Given the description of an element on the screen output the (x, y) to click on. 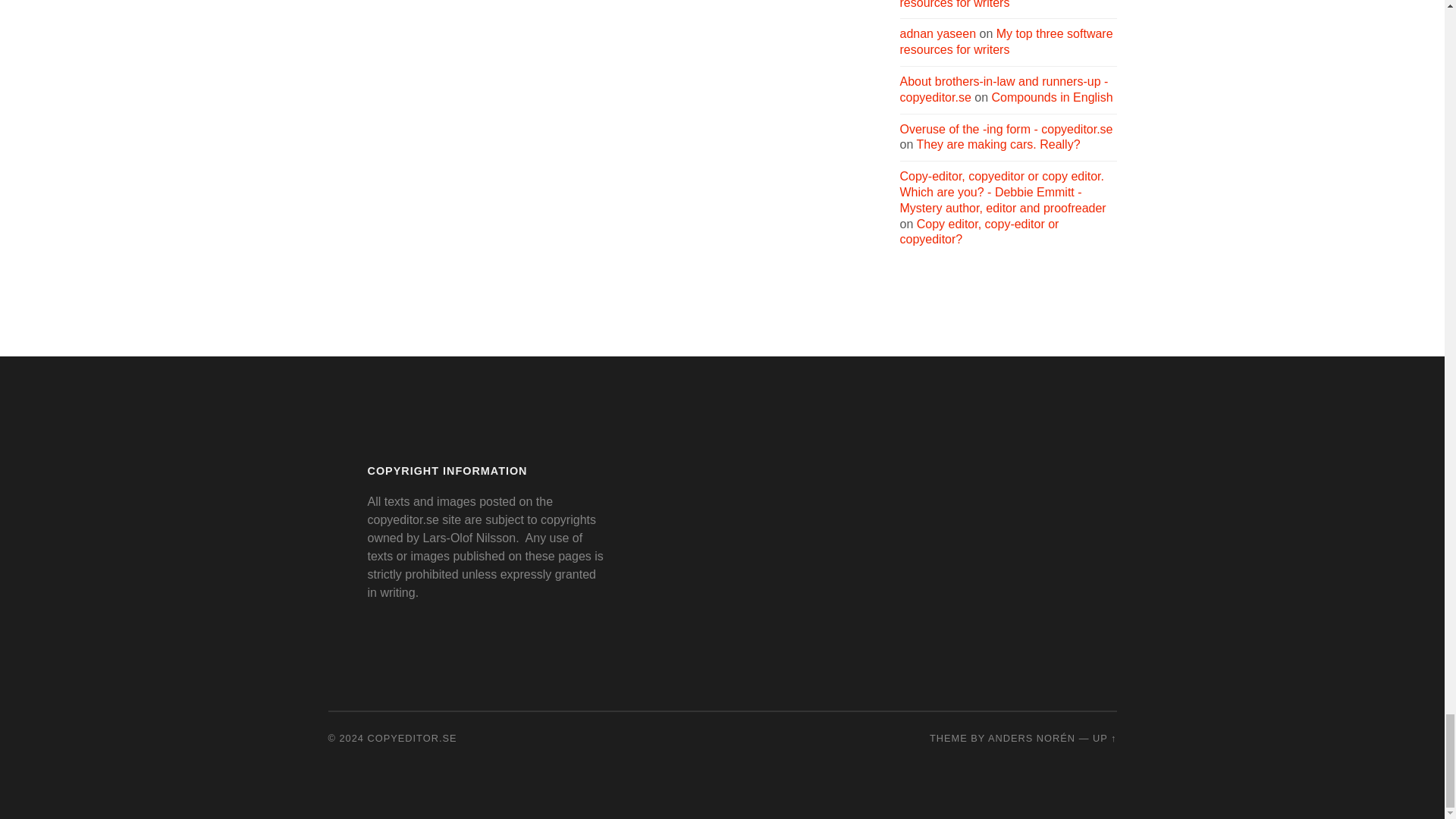
To the top (1104, 737)
